Given the description of an element on the screen output the (x, y) to click on. 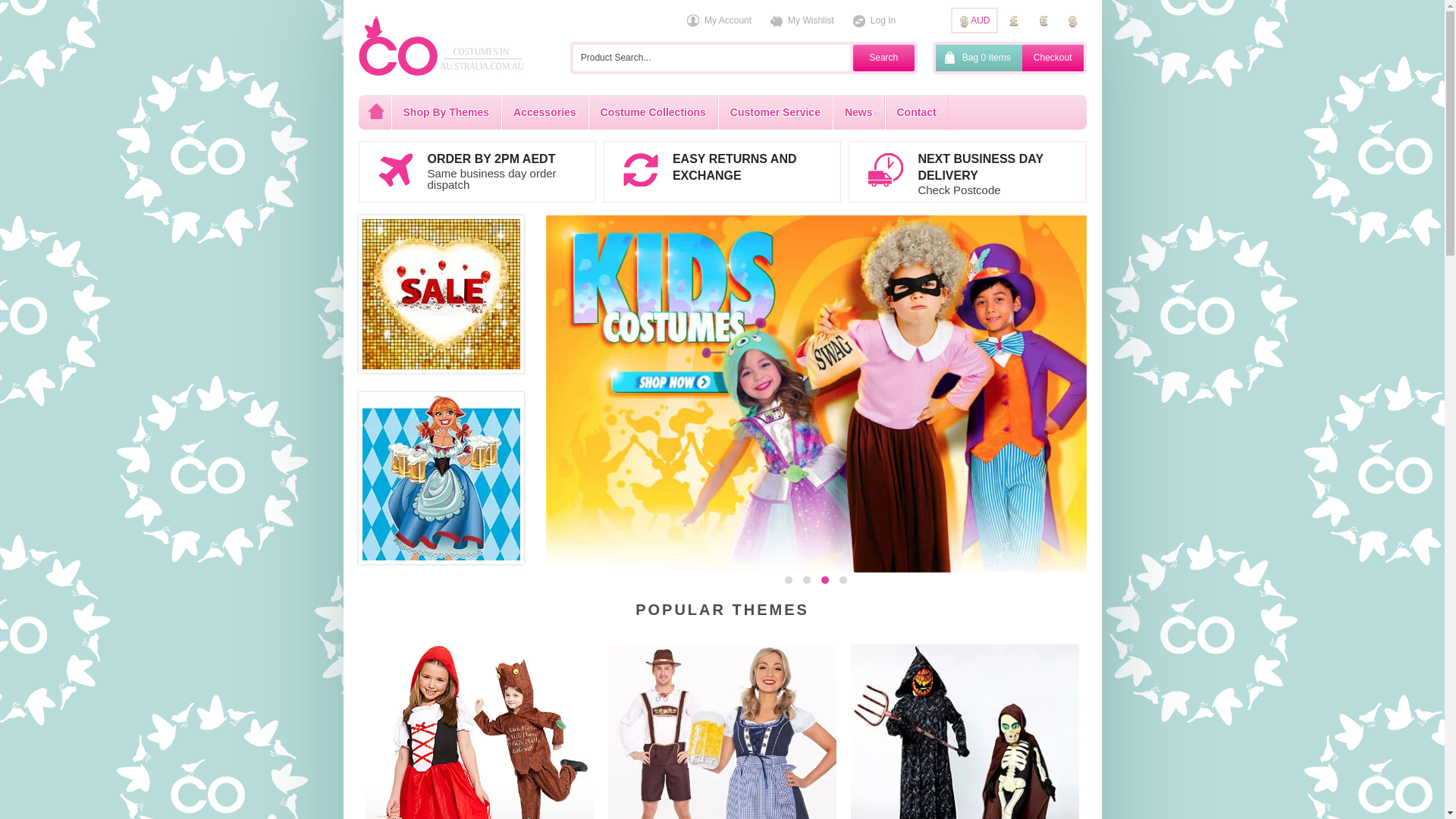
Accessories Element type: text (544, 111)
Log In Element type: text (874, 20)
Euro - EUR Element type: hover (1043, 20)
My Wishlist Element type: text (802, 20)
My Account Element type: text (719, 20)
News Element type: text (858, 111)
Contact Element type: text (915, 111)
EASY RETURNS AND EXCHANGE Element type: text (721, 171)
NEXT BUSINESS DAY DELIVERY
Check Postcode Element type: text (966, 171)
Shop By Themes Element type: text (446, 111)
Kids Costumes Element type: hover (816, 393)
British Pound - GBP Element type: hover (1012, 20)
Bag 0 Items Element type: text (978, 57)
Costumes Australia Element type: hover (440, 73)
AUD Element type: text (973, 20)
ORDER BY 2PM AEDT
Same business day order dispatch Element type: text (476, 171)
Express delivery Element type: hover (441, 477)
Checkout Element type: text (1052, 57)
US Dollar - USD Element type: hover (1071, 20)
Customer Service Element type: text (775, 111)
Search Element type: text (883, 57)
Costume Collections Element type: text (653, 111)
Sale Element type: hover (441, 294)
